Given the description of an element on the screen output the (x, y) to click on. 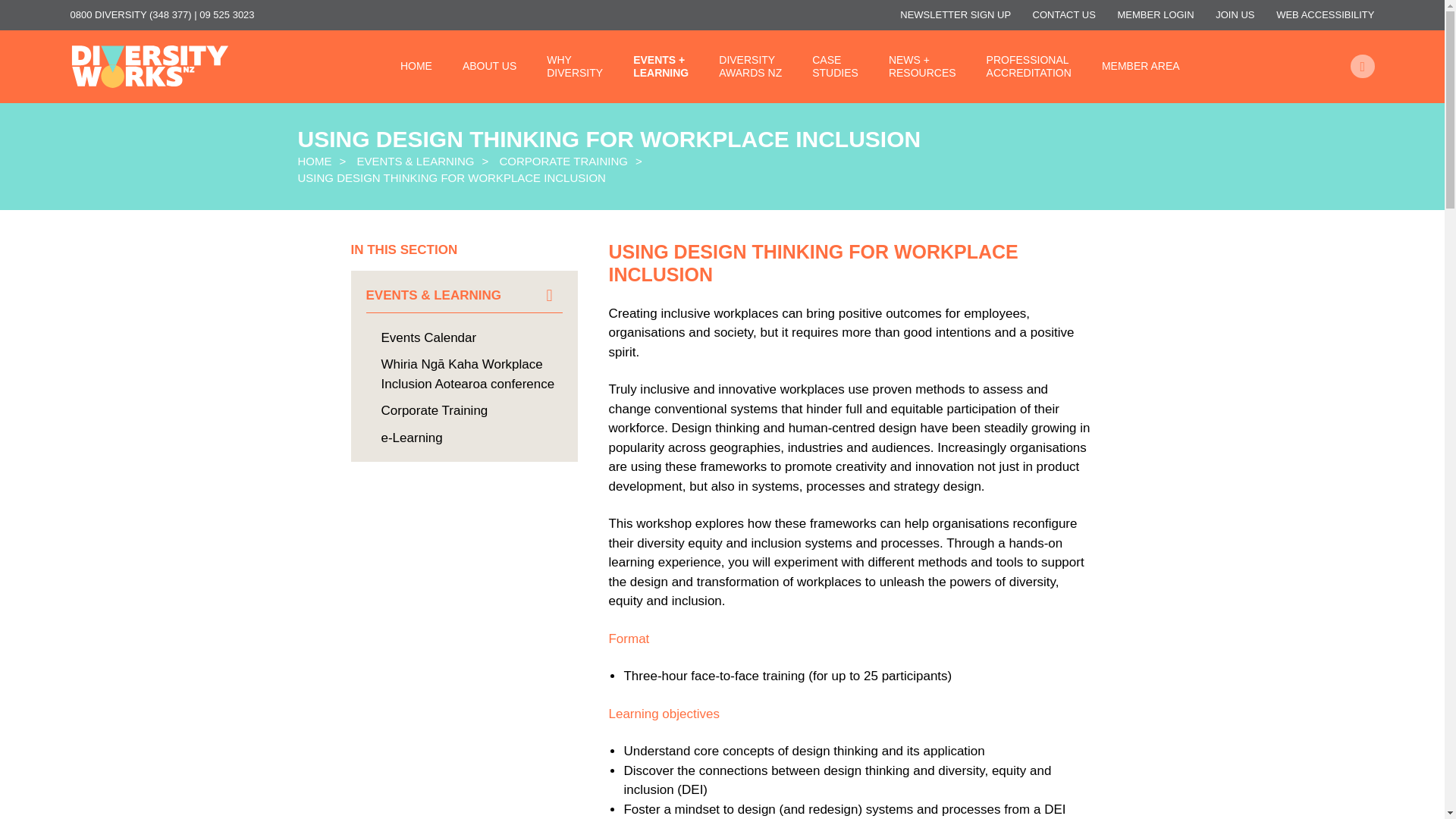
JOIN US (1234, 14)
NEWSLETTER SIGN UP (954, 14)
MEMBER LOGIN (1155, 14)
CONTACT US (1064, 14)
HOME (750, 66)
WEB ACCESSIBILITY (416, 65)
ABOUT US (574, 66)
